Given the description of an element on the screen output the (x, y) to click on. 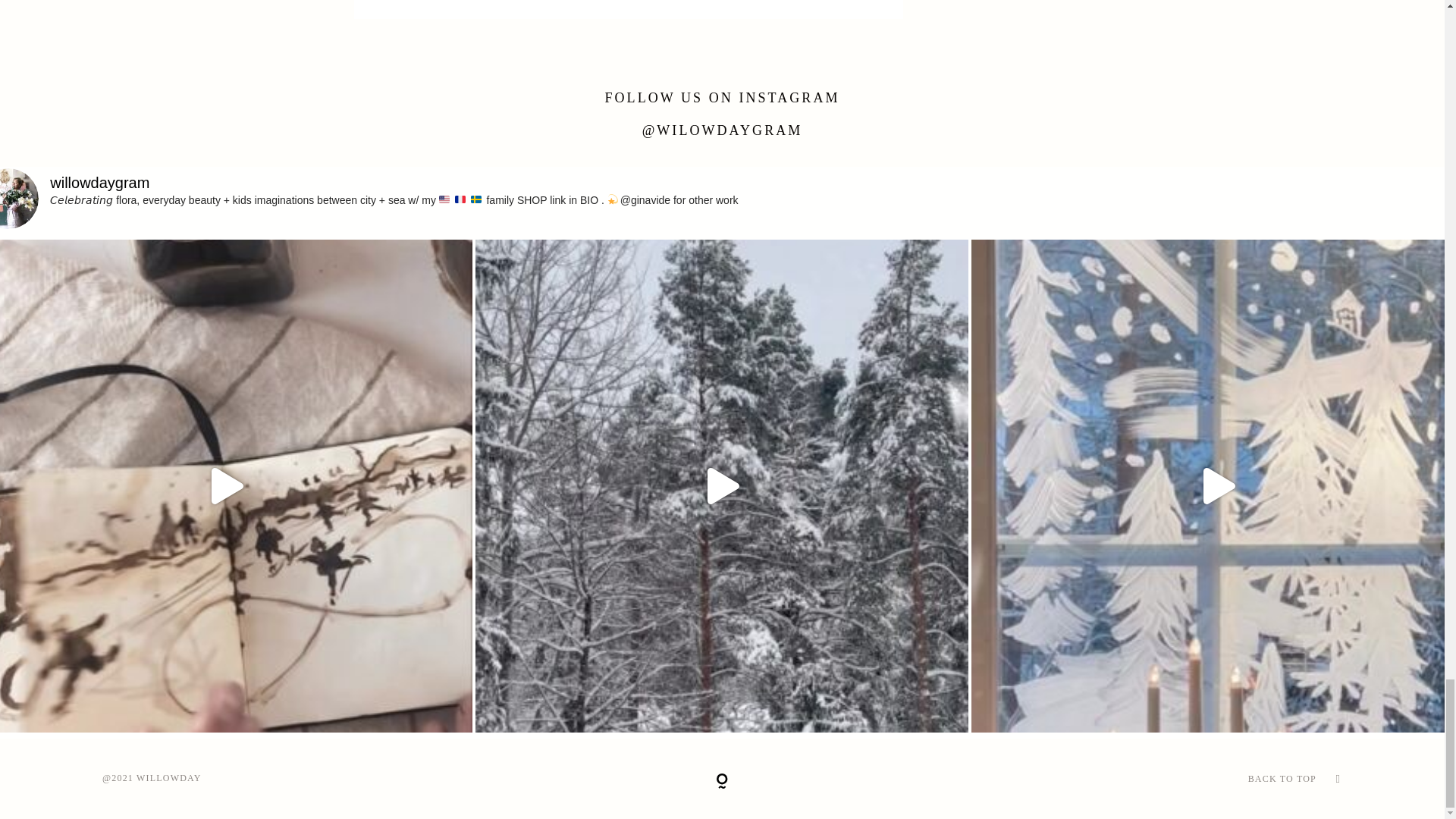
Sorry, your browser does not support inline SVG. (721, 781)
BACK TO TOP (1281, 777)
BACK TO TOP (1135, 778)
